Given the description of an element on the screen output the (x, y) to click on. 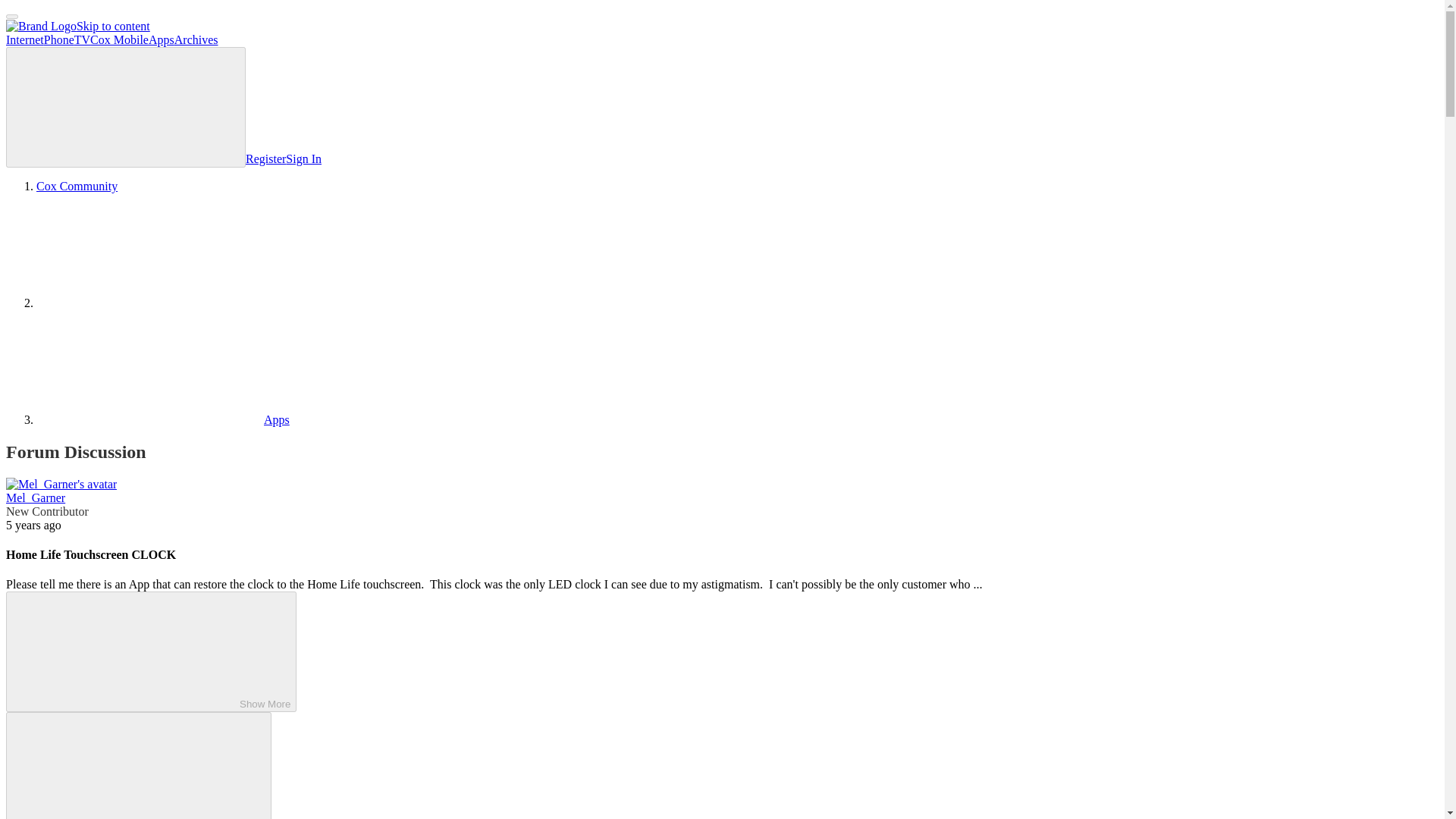
November 3, 2019 at 3:07 AM (33, 524)
Reply (125, 766)
Cox Community (76, 185)
ReplyReply (137, 765)
Phone (58, 39)
Show More (151, 651)
Skip to content (113, 25)
Search (125, 106)
Cox Mobile (119, 39)
Archives (196, 39)
